Given the description of an element on the screen output the (x, y) to click on. 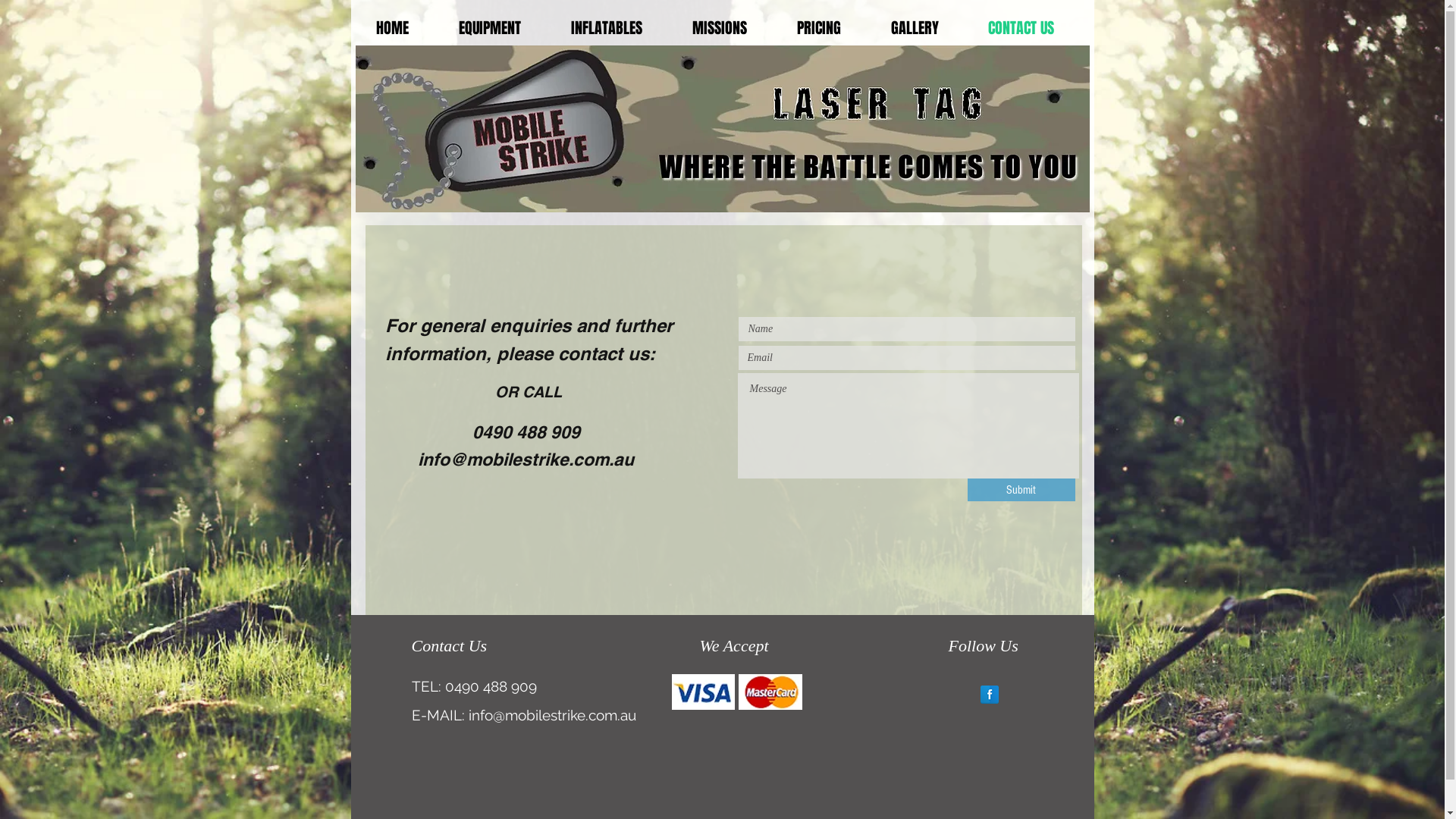
info@mobilestrike.com.au Element type: text (525, 458)
Submit Element type: text (1021, 489)
GALLERY Element type: text (914, 27)
CONTACT US Element type: text (1020, 27)
MISSIONS Element type: text (719, 27)
info@mobilestrike.com.au Element type: text (552, 714)
EQUIPMENT Element type: text (489, 27)
PRICING Element type: text (818, 27)
INFLATABLES Element type: text (606, 27)
HOME Element type: text (391, 27)
